Given the description of an element on the screen output the (x, y) to click on. 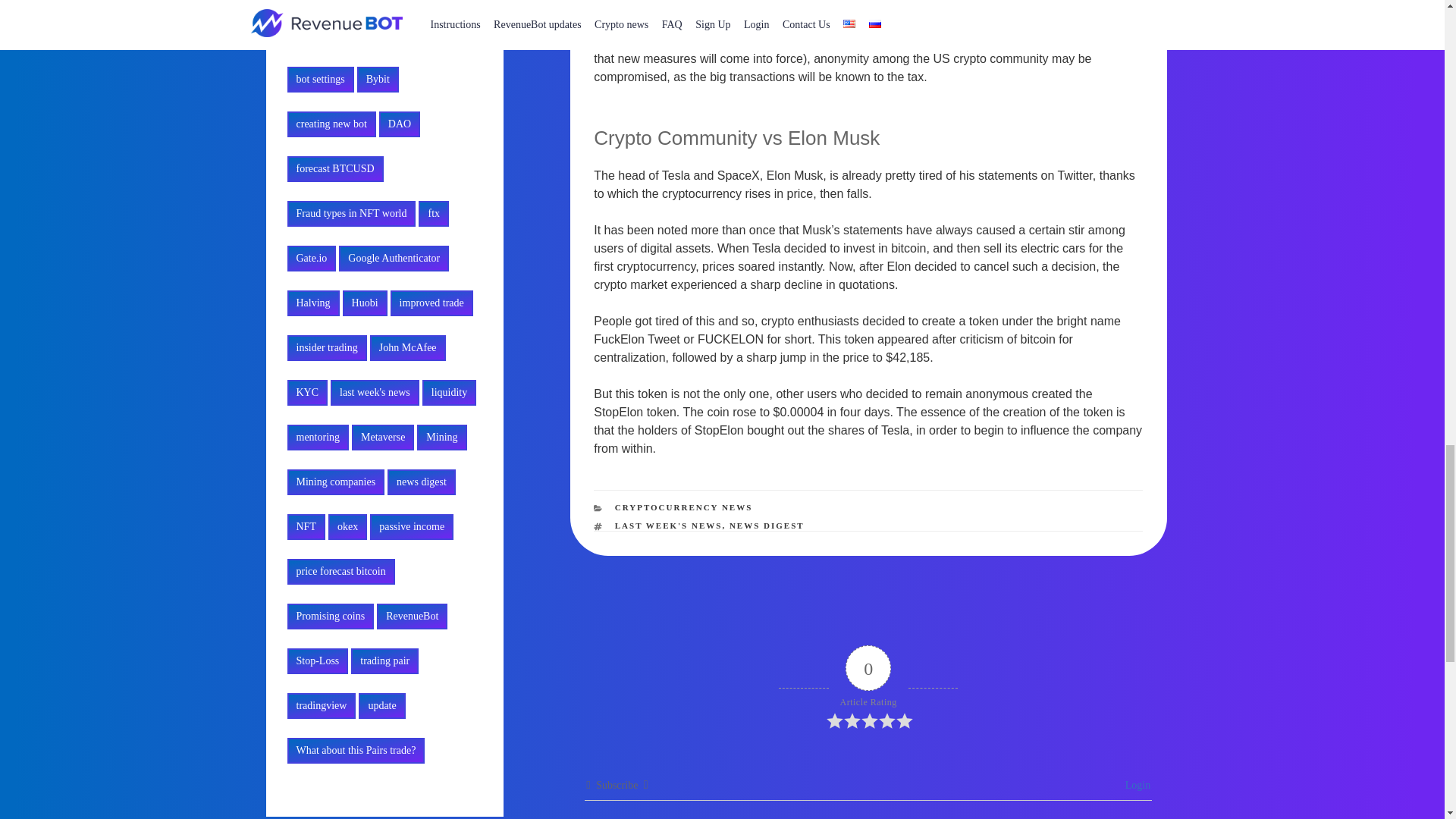
LAST WEEK'S NEWS (668, 524)
NEWS DIGEST (767, 524)
Login (1135, 785)
CRYPTOCURRENCY NEWS (683, 506)
